Given the description of an element on the screen output the (x, y) to click on. 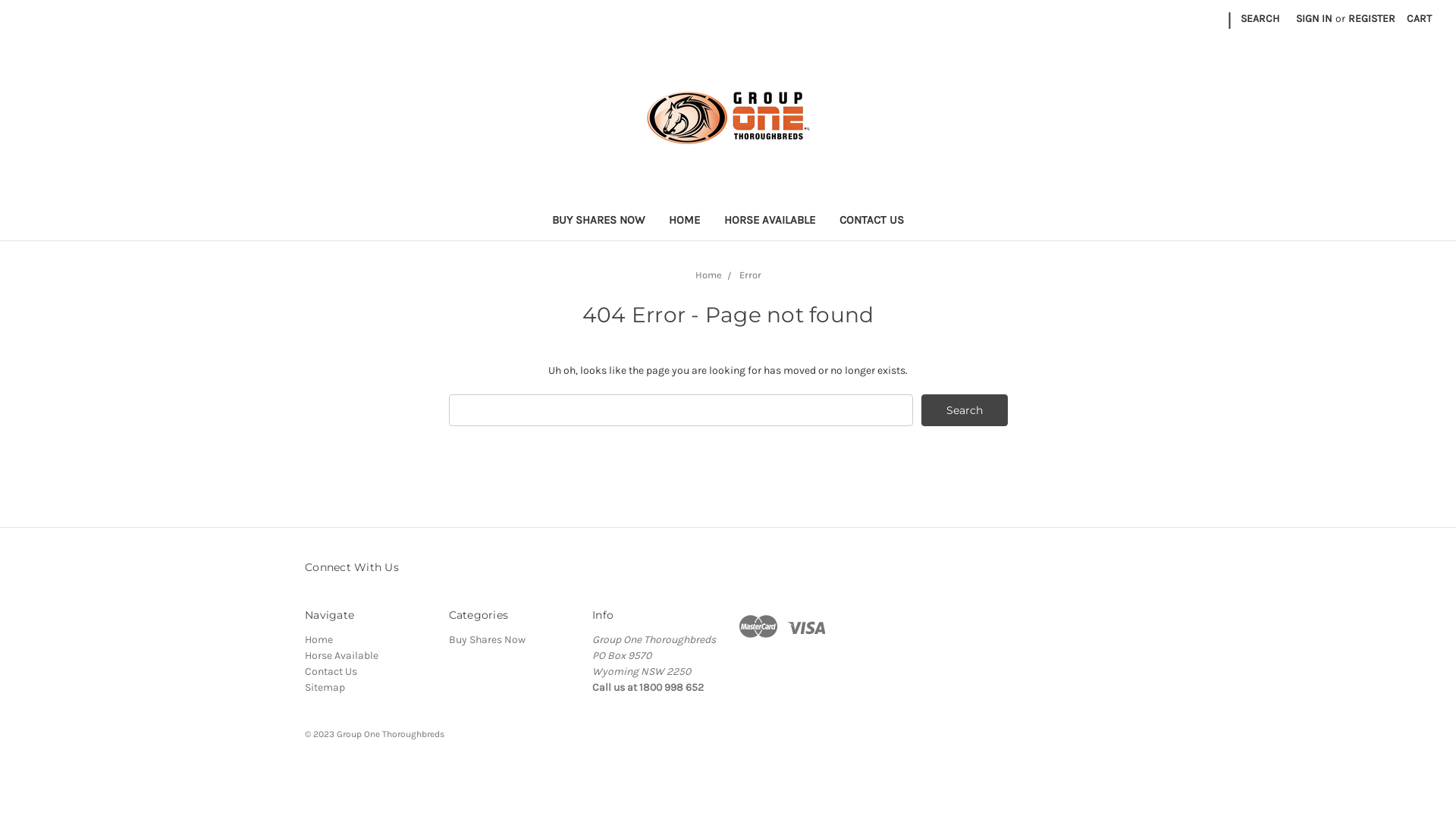
SIGN IN Element type: text (1313, 18)
Search Element type: text (964, 410)
REGISTER Element type: text (1371, 18)
Buy Shares Now Element type: text (486, 639)
HORSE AVAILABLE Element type: text (769, 221)
HOME Element type: text (684, 221)
Home Element type: text (318, 639)
SEARCH Element type: text (1259, 18)
CONTACT US Element type: text (871, 221)
BUY SHARES NOW Element type: text (597, 221)
Home Element type: text (707, 274)
CART Element type: text (1419, 18)
Horse Available Element type: text (341, 655)
Sitemap Element type: text (324, 686)
Contact Us Element type: text (330, 671)
Group One Thoroughbreds Element type: hover (728, 117)
